Given the description of an element on the screen output the (x, y) to click on. 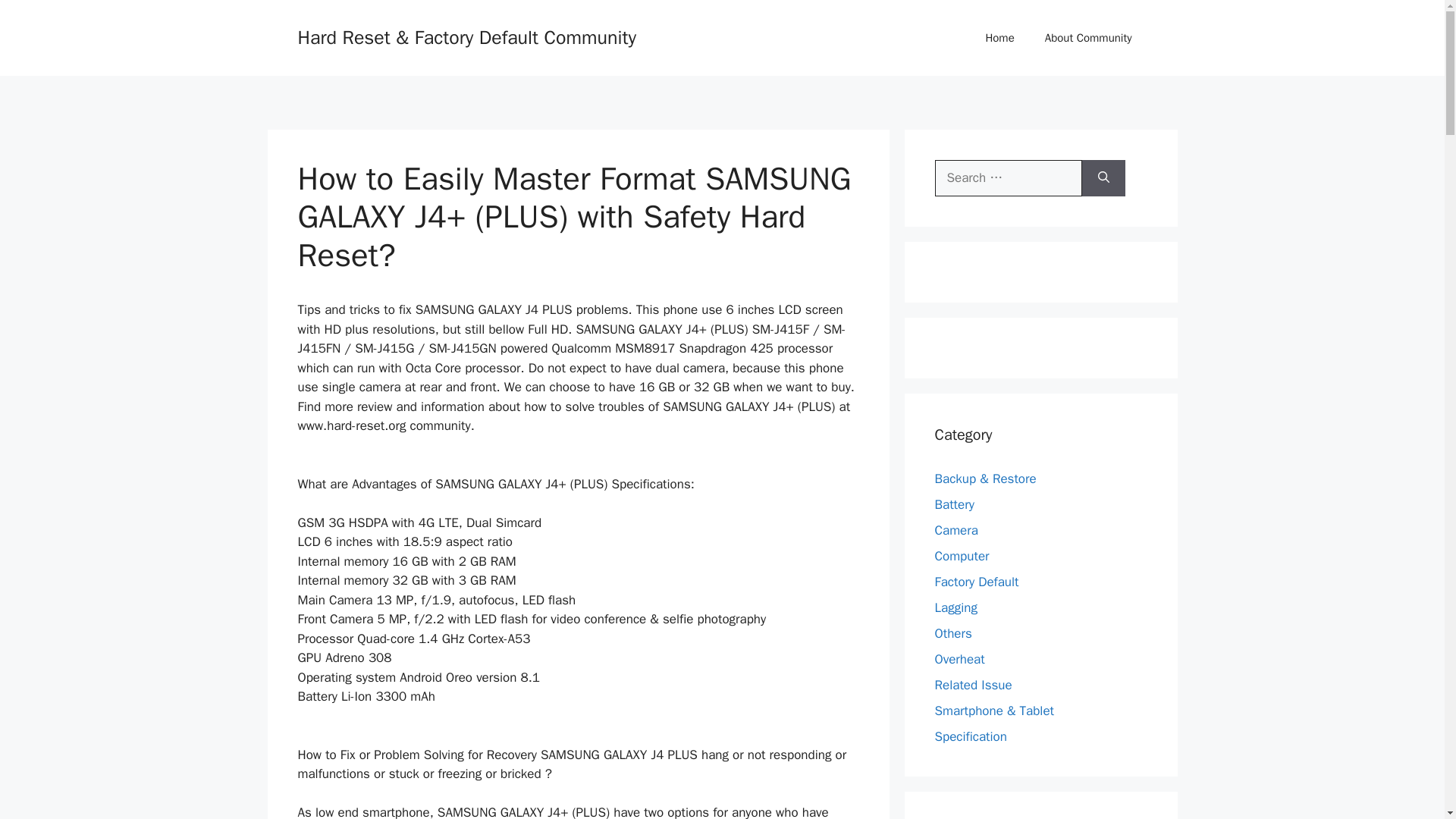
Search for: (1007, 177)
Battery (954, 503)
Home (999, 37)
About Community (1088, 37)
